Given the description of an element on the screen output the (x, y) to click on. 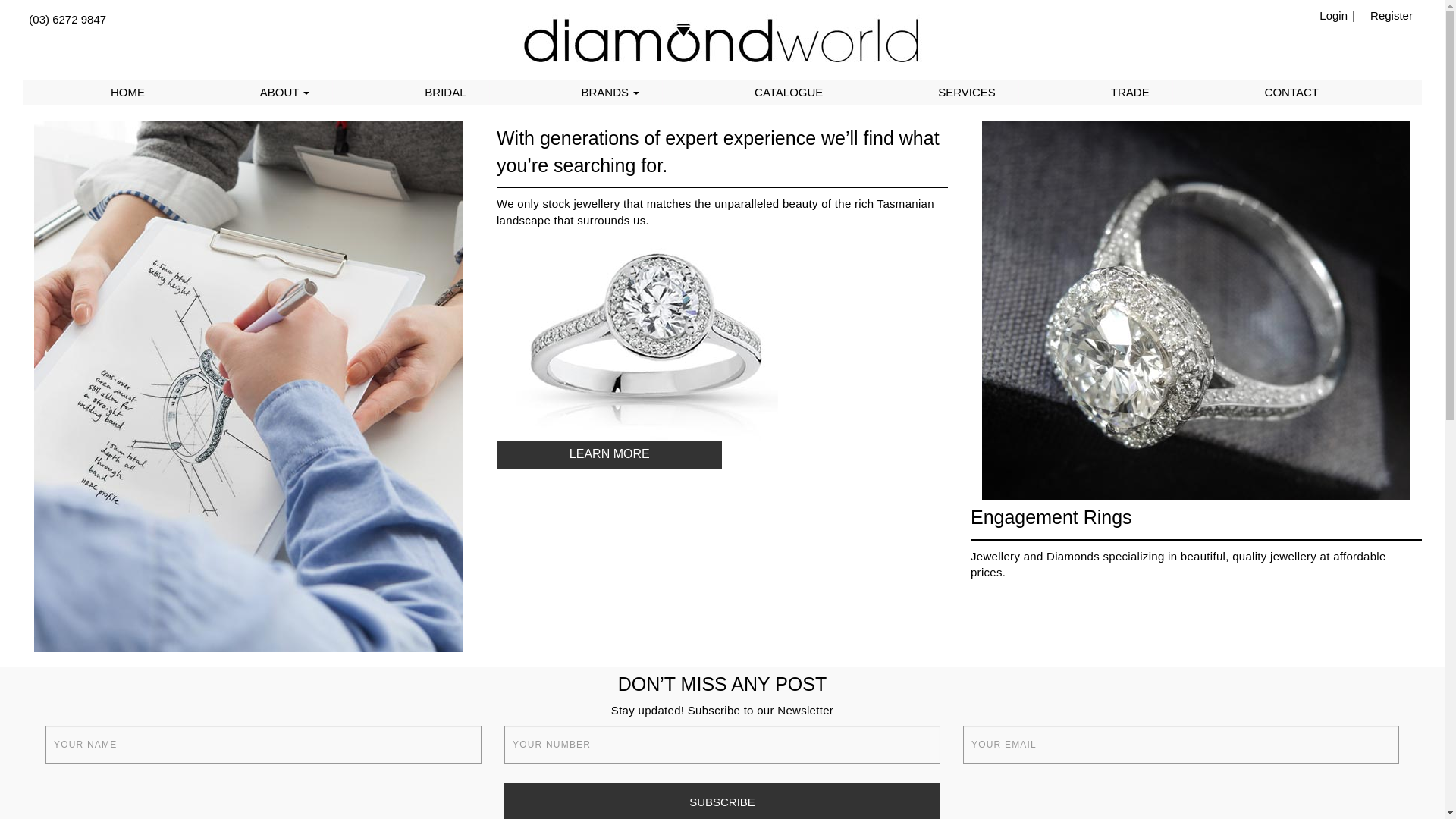
BRIDAL Element type: text (444, 92)
SERVICES Element type: text (966, 92)
Diamond World in Glenorchy, TAS Element type: hover (721, 39)
ABOUT Element type: text (284, 92)
CONTACT Element type: text (1291, 92)
LEARN MORE Element type: text (608, 454)
Register Element type: text (1387, 15)
HOME Element type: text (127, 92)
Follow Dimond World on Facebook Element type: hover (1409, 39)
BRANDS Element type: text (610, 92)
TRADE Element type: text (1130, 92)
Login Element type: text (1329, 15)
Follow Dimond World on Instagram Element type: hover (1418, 39)
CATALOGUE Element type: text (788, 92)
